Given the description of an element on the screen output the (x, y) to click on. 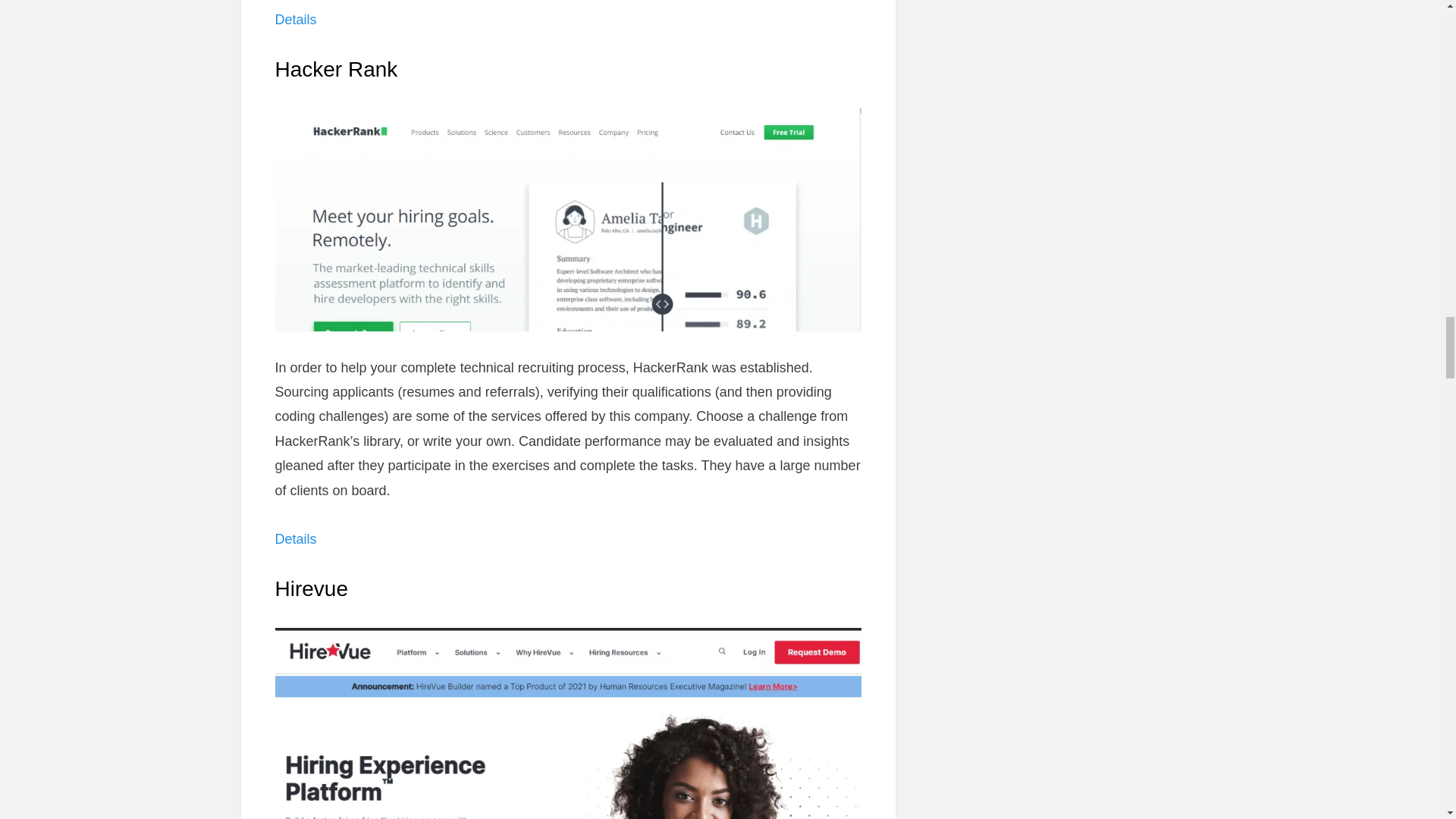
Details (295, 539)
Details (295, 19)
